Given the description of an element on the screen output the (x, y) to click on. 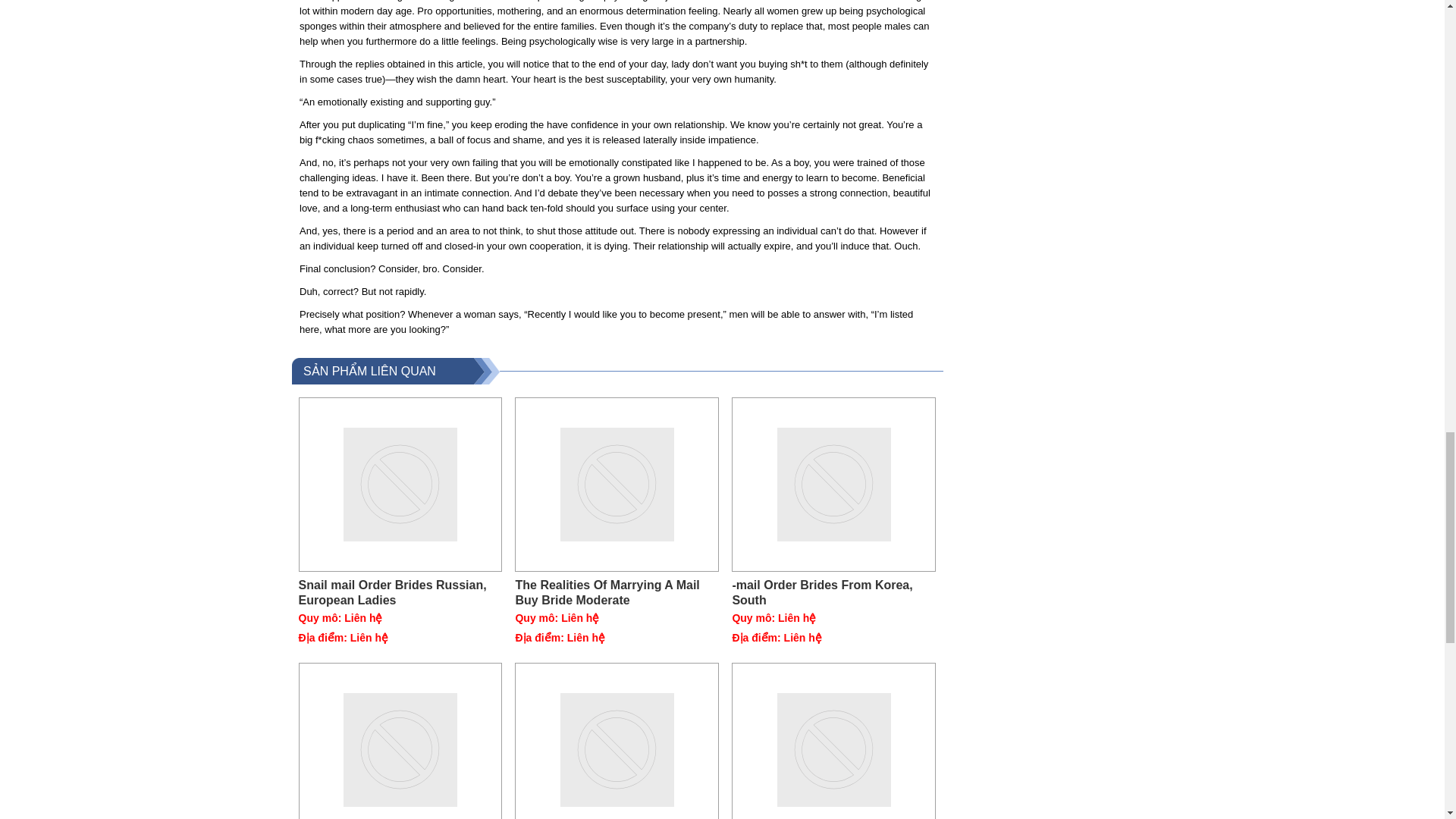
Snail mail Order Brides Russian, European Ladies (400, 593)
-mail Order Brides From Korea, South (834, 484)
The Realities Of Marrying A Mail Buy Bride Moderate (617, 484)
Finest Methods For the purpose of Latin American Bettors (834, 740)
-mail Order Brides From Korea, South (834, 593)
-mail Order Brides From Korea, South (834, 593)
The Realities Of Marrying A Mail Buy Bride Moderate (617, 593)
Wikihows Ultimate Tips for Courting (617, 740)
escort service Henderson (807, 0)
Snail mail Order Brides Russian, European Ladies (400, 593)
Snail mail Order Brides Russian, European Ladies (400, 484)
The Realities Of Marrying A Mail Buy Bride Moderate (617, 593)
